Given the description of an element on the screen output the (x, y) to click on. 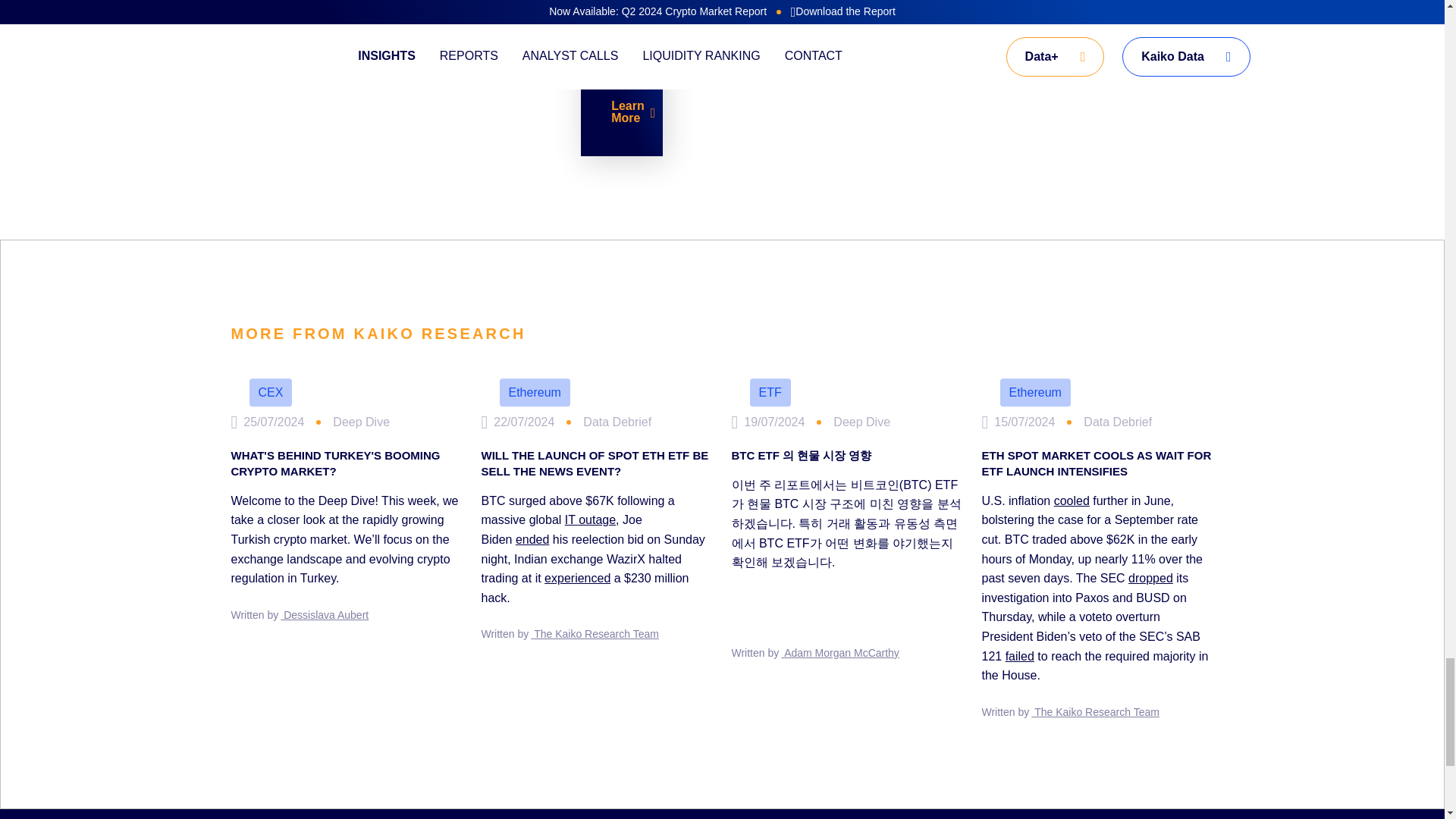
Learn More (633, 112)
WHAT'S BEHIND TURKEY'S BOOMING CRYPTO MARKET? (346, 463)
IT outage (589, 519)
ETH SPOT MARKET COOLS AS WAIT FOR ETF LAUNCH INTENSIFIES (1096, 463)
experienced (577, 577)
The Kaiko Research Team (595, 633)
Dessislava Aubert (324, 614)
cooled (1071, 500)
ended (532, 539)
WILL THE LAUNCH OF SPOT ETH ETF BE SELL THE NEWS EVENT? (596, 463)
Adam Morgan McCarthy (839, 653)
